Given the description of an element on the screen output the (x, y) to click on. 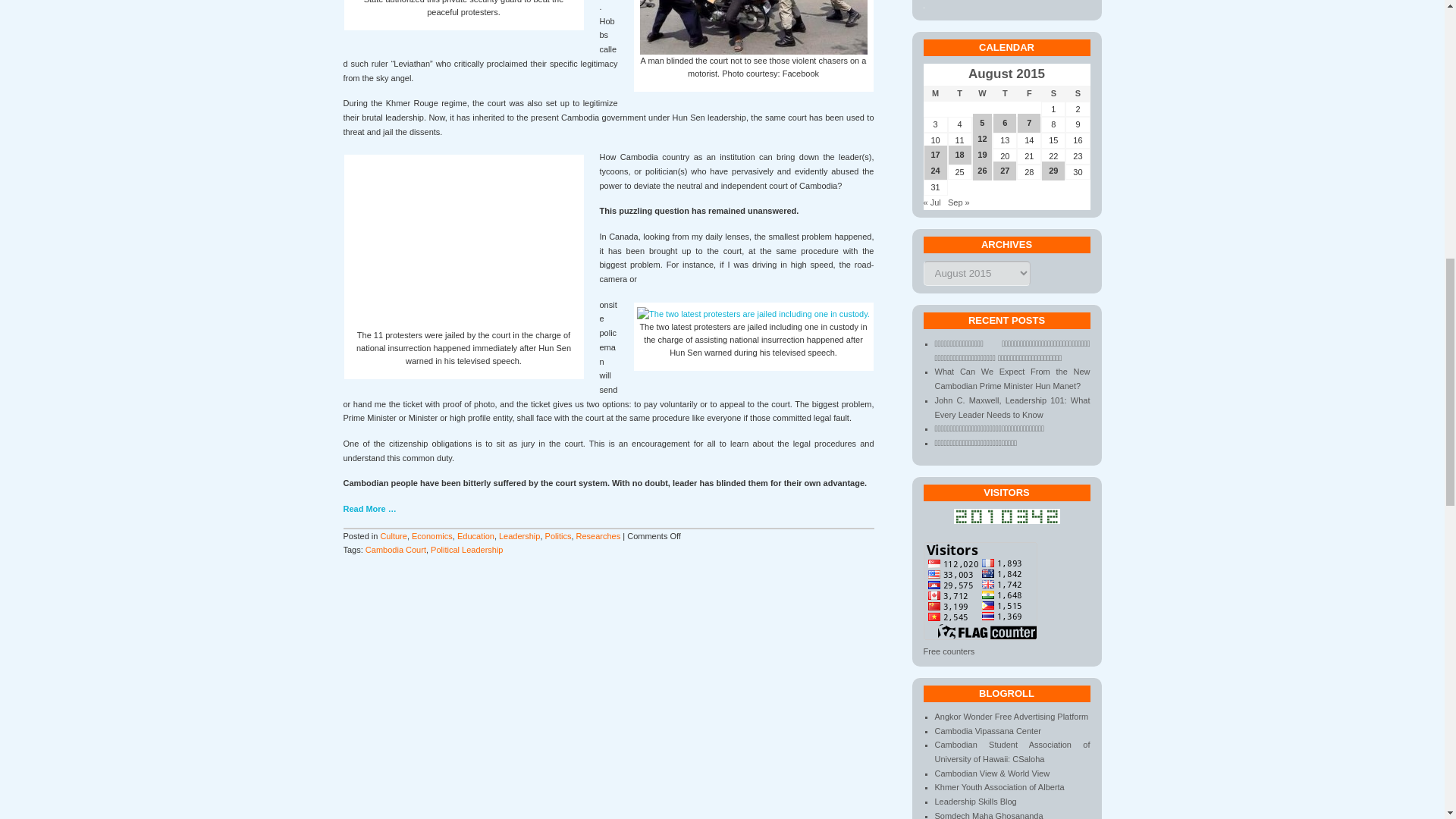
Thursday (1004, 93)
Saturday (1053, 93)
Friday (1028, 93)
Sunday (1077, 93)
Wednesday (982, 93)
Tuesday (959, 93)
Monday (935, 93)
